Given the description of an element on the screen output the (x, y) to click on. 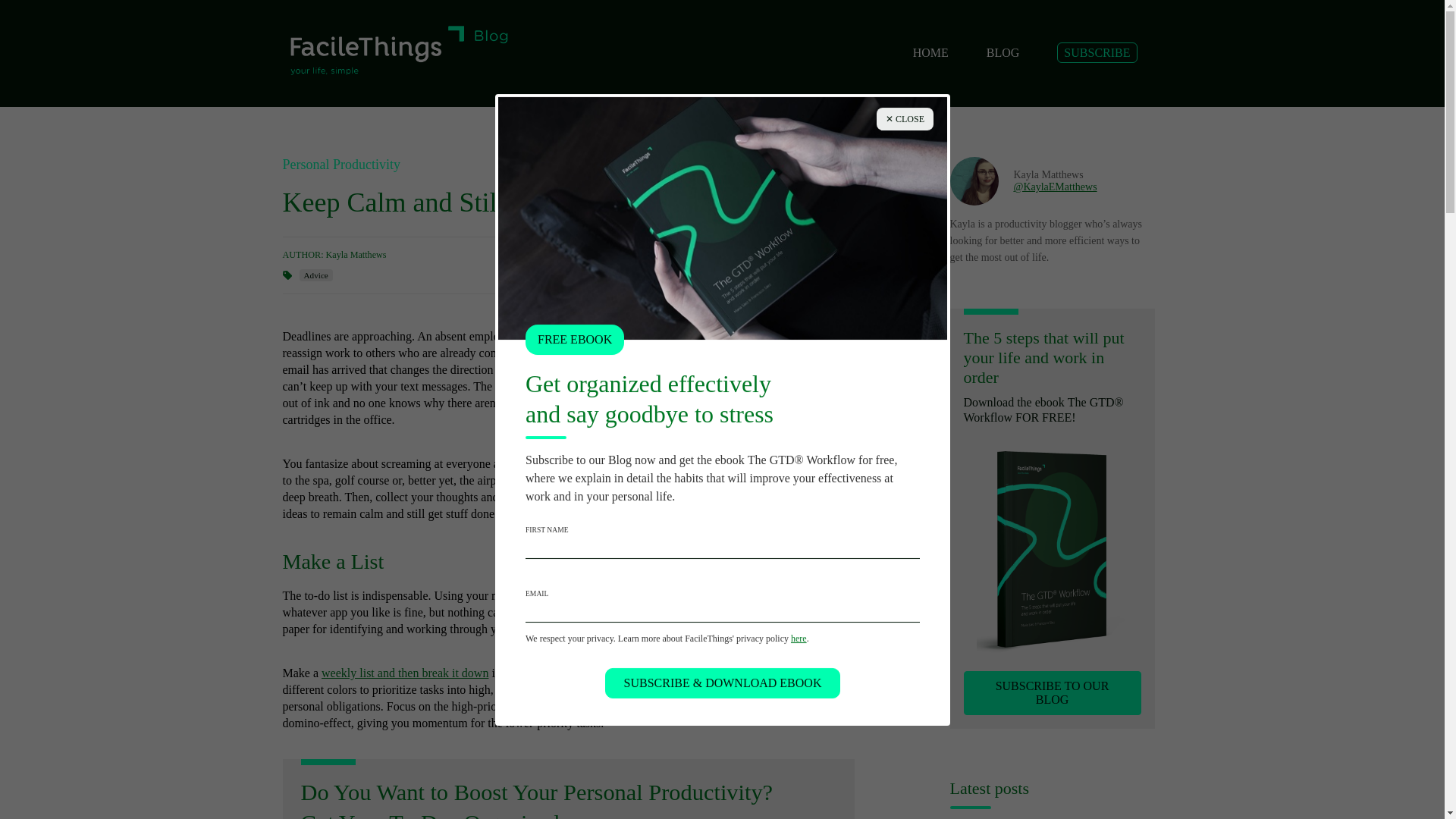
SUBSCRIBE TO OUR BLOG (1051, 692)
HOME (930, 51)
SUBSCRIBE (1097, 52)
BLOG (1003, 51)
Personal Productivity (341, 164)
weekly list and then break it down (404, 672)
Advice (314, 275)
